Given the description of an element on the screen output the (x, y) to click on. 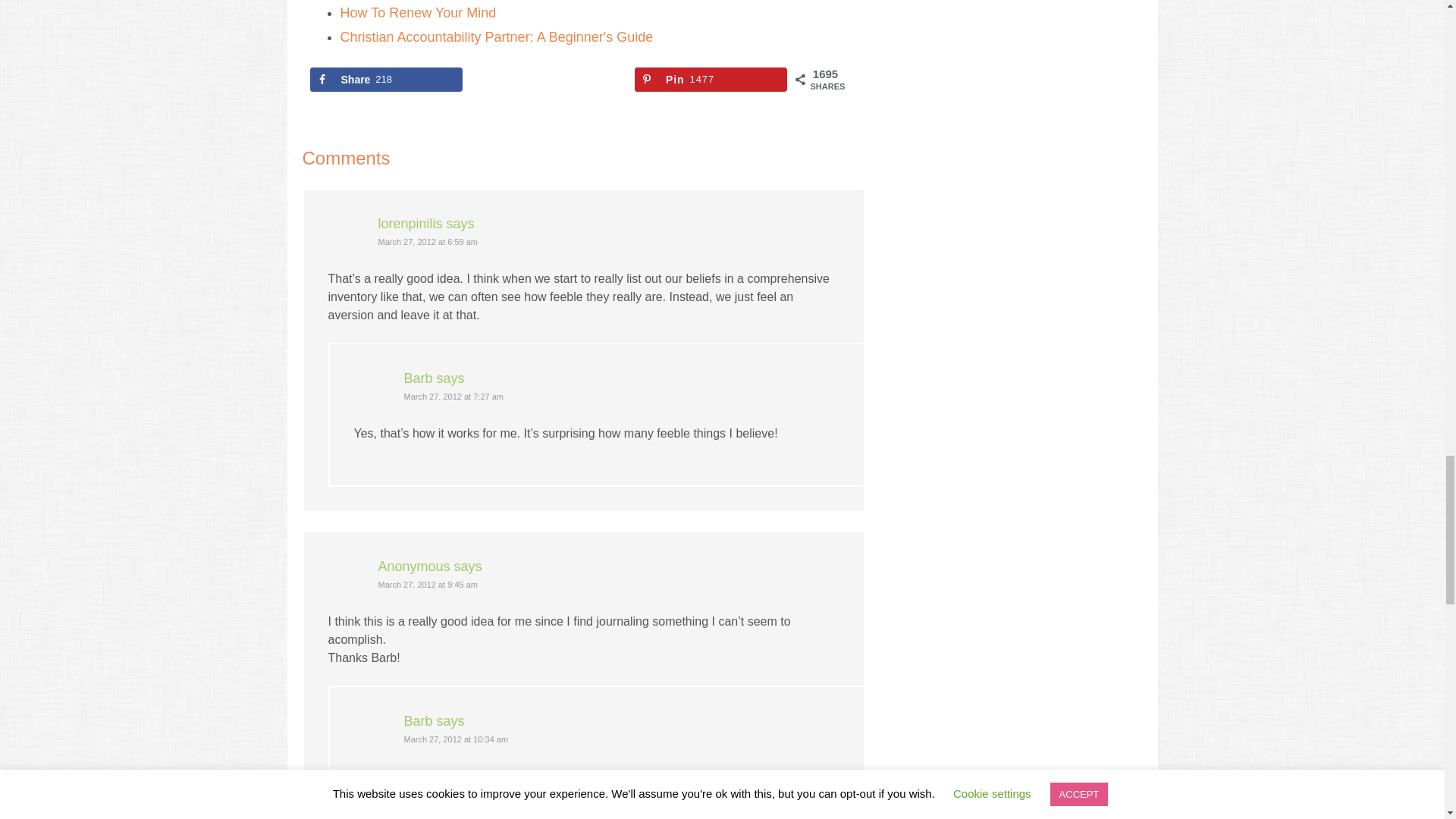
Share on X (548, 79)
Save to Pinterest (710, 79)
Share on Facebook (385, 79)
